Given the description of an element on the screen output the (x, y) to click on. 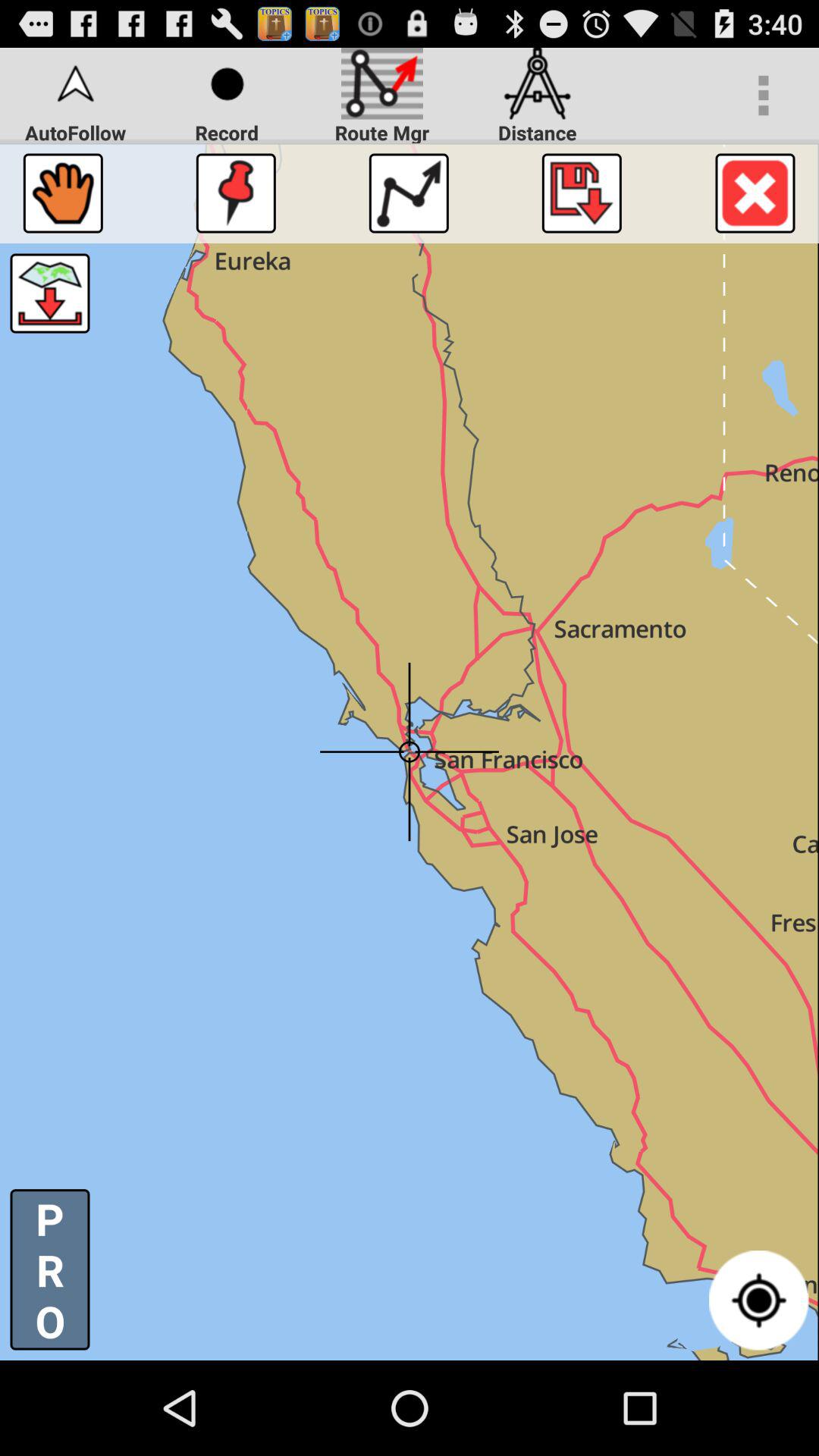
close map screen (755, 193)
